Given the description of an element on the screen output the (x, y) to click on. 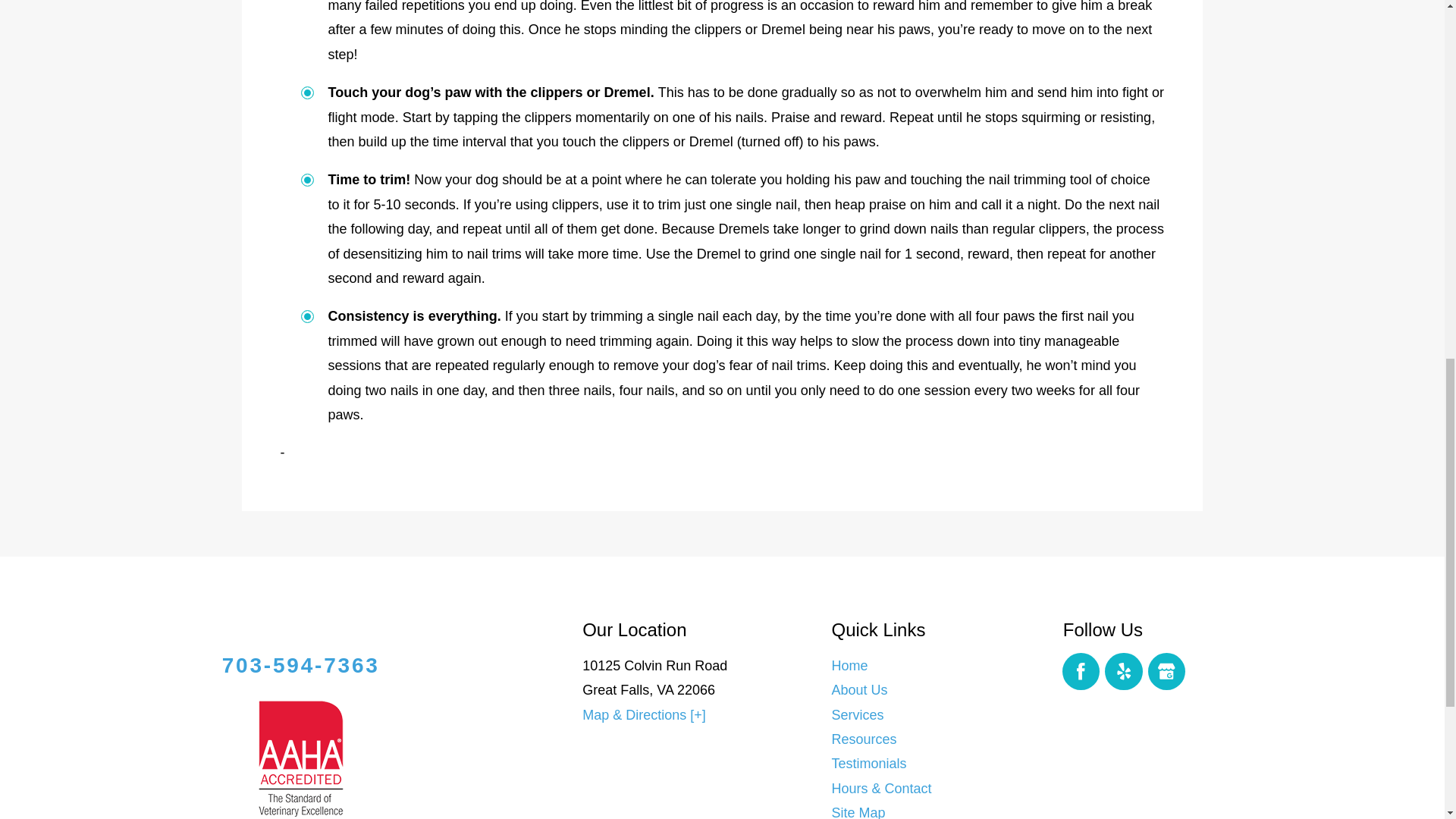
Google Business Profile (1167, 671)
Facebook (1081, 671)
Yelp (1123, 671)
